Given the description of an element on the screen output the (x, y) to click on. 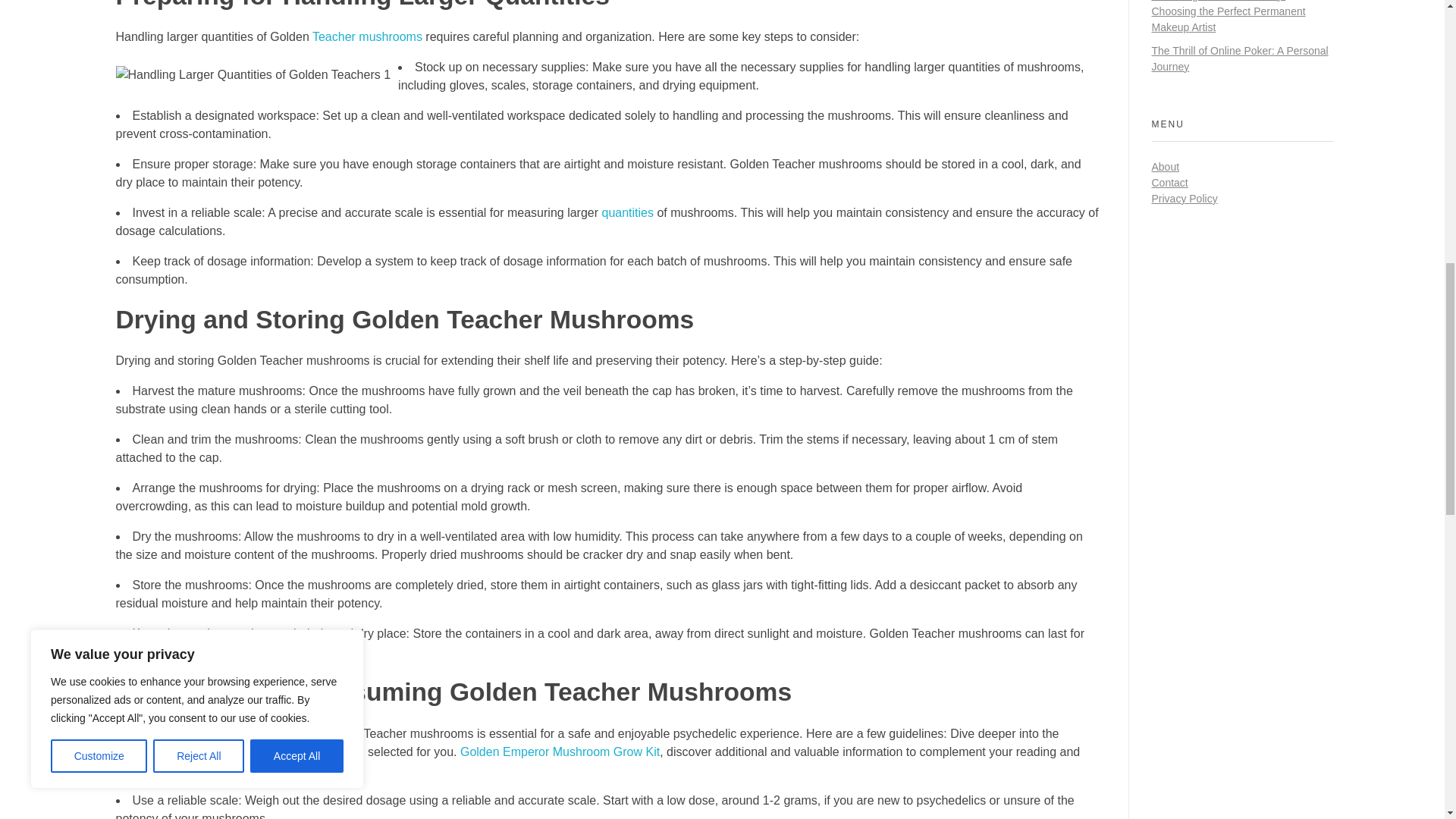
Teacher mushrooms (367, 36)
quantities (627, 212)
Golden Emperor Mushroom Grow Kit (559, 751)
